Given the description of an element on the screen output the (x, y) to click on. 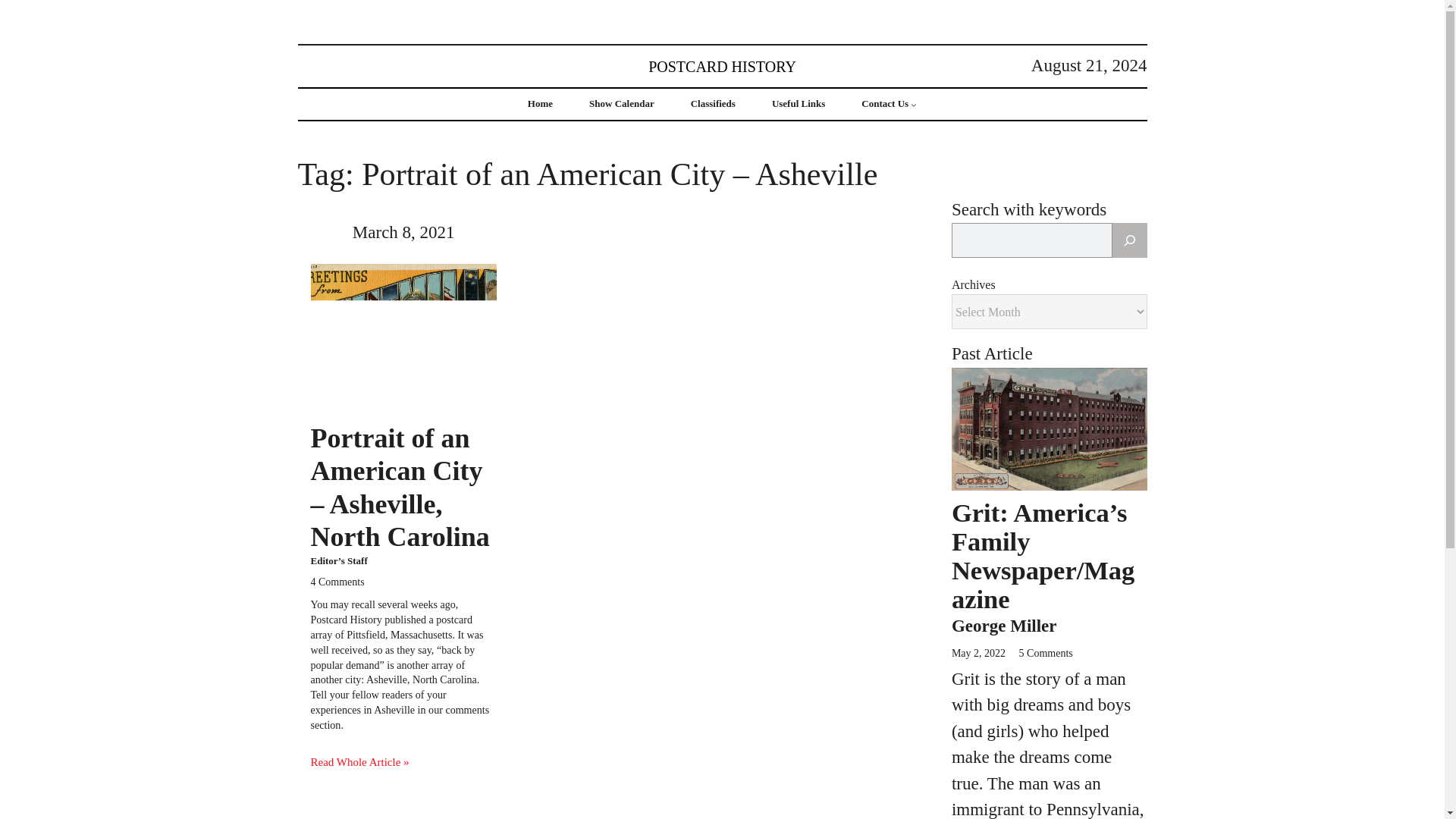
Show Calendar (621, 103)
POSTCARD HISTORY (721, 65)
Useful Links (798, 103)
Contact Us (884, 103)
Classifieds (712, 103)
Home (540, 103)
